Given the description of an element on the screen output the (x, y) to click on. 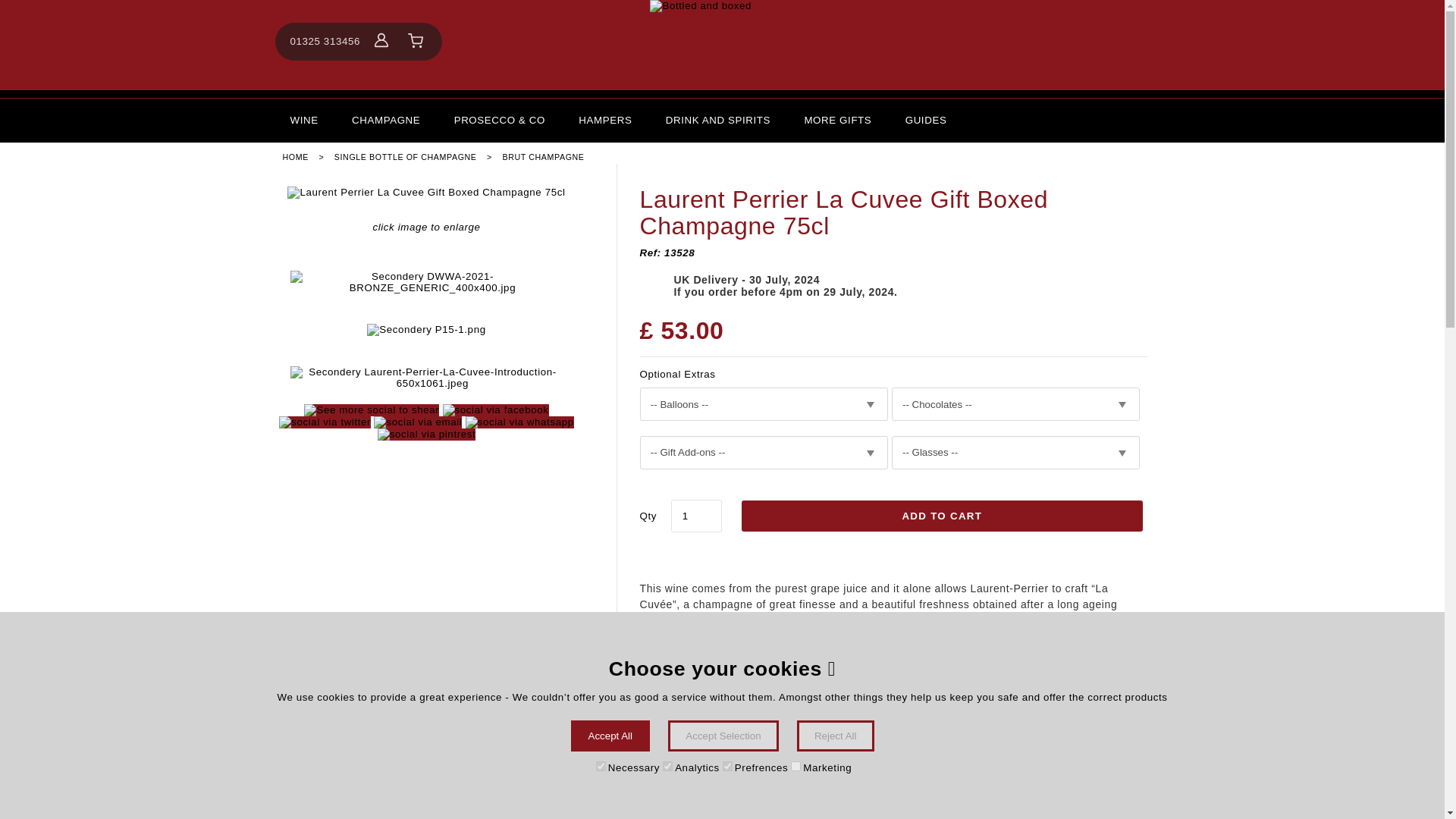
View Basket (415, 41)
Basket button (415, 40)
Analytics (667, 766)
Prefrences (727, 766)
Accout button (381, 39)
WINE (304, 120)
Manage Account (380, 41)
1 (696, 516)
Necessary (600, 766)
Marketing (795, 766)
Home (721, 45)
Accout button (380, 41)
Basket button (415, 41)
Wine Delivery in the UK (304, 120)
